Given the description of an element on the screen output the (x, y) to click on. 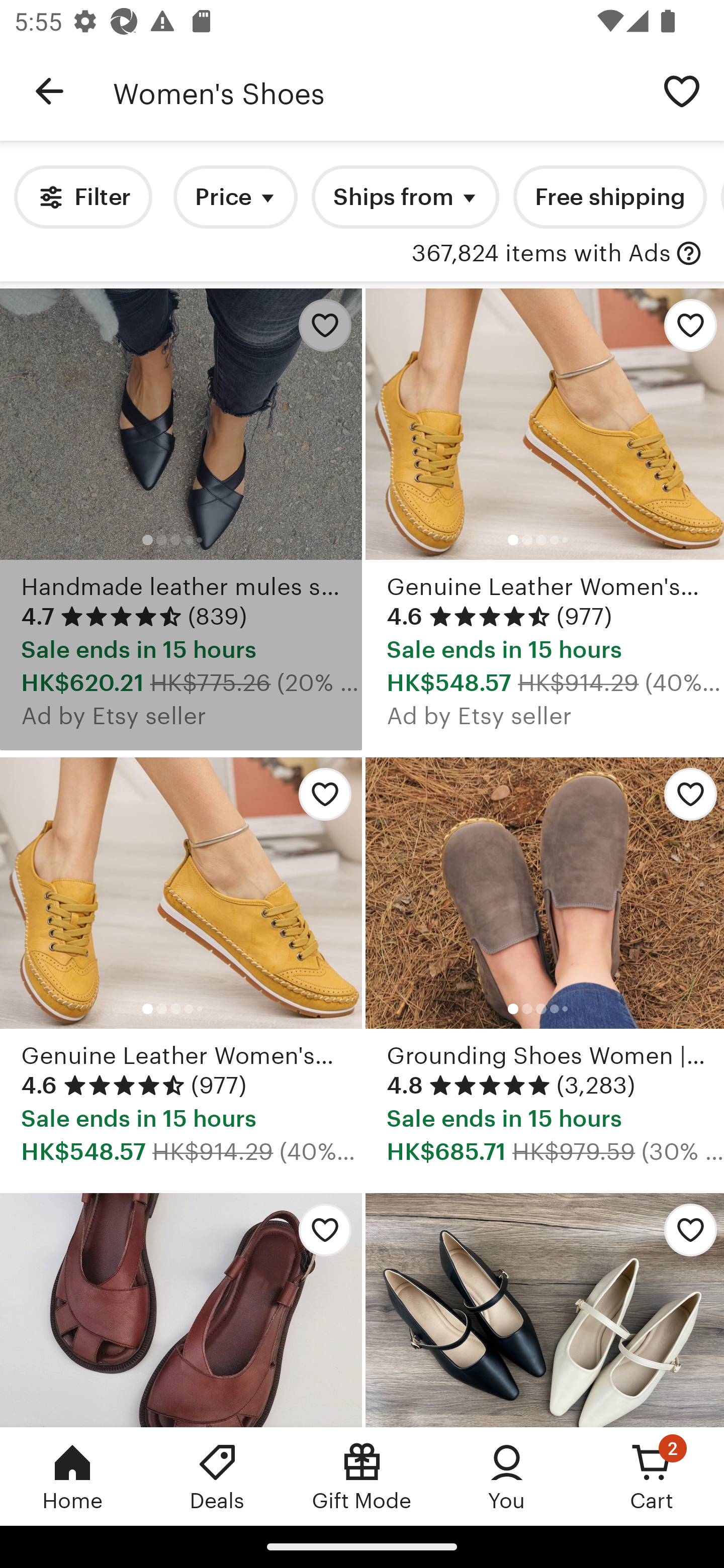
Navigate up (49, 91)
Save search (681, 90)
Women's Shoes (375, 91)
Filter (82, 197)
Price (235, 197)
Ships from (405, 197)
Free shipping (609, 197)
367,824 items with Ads (541, 253)
with Ads (688, 253)
Deals (216, 1475)
Gift Mode (361, 1475)
You (506, 1475)
Cart, 2 new notifications Cart (651, 1475)
